Given the description of an element on the screen output the (x, y) to click on. 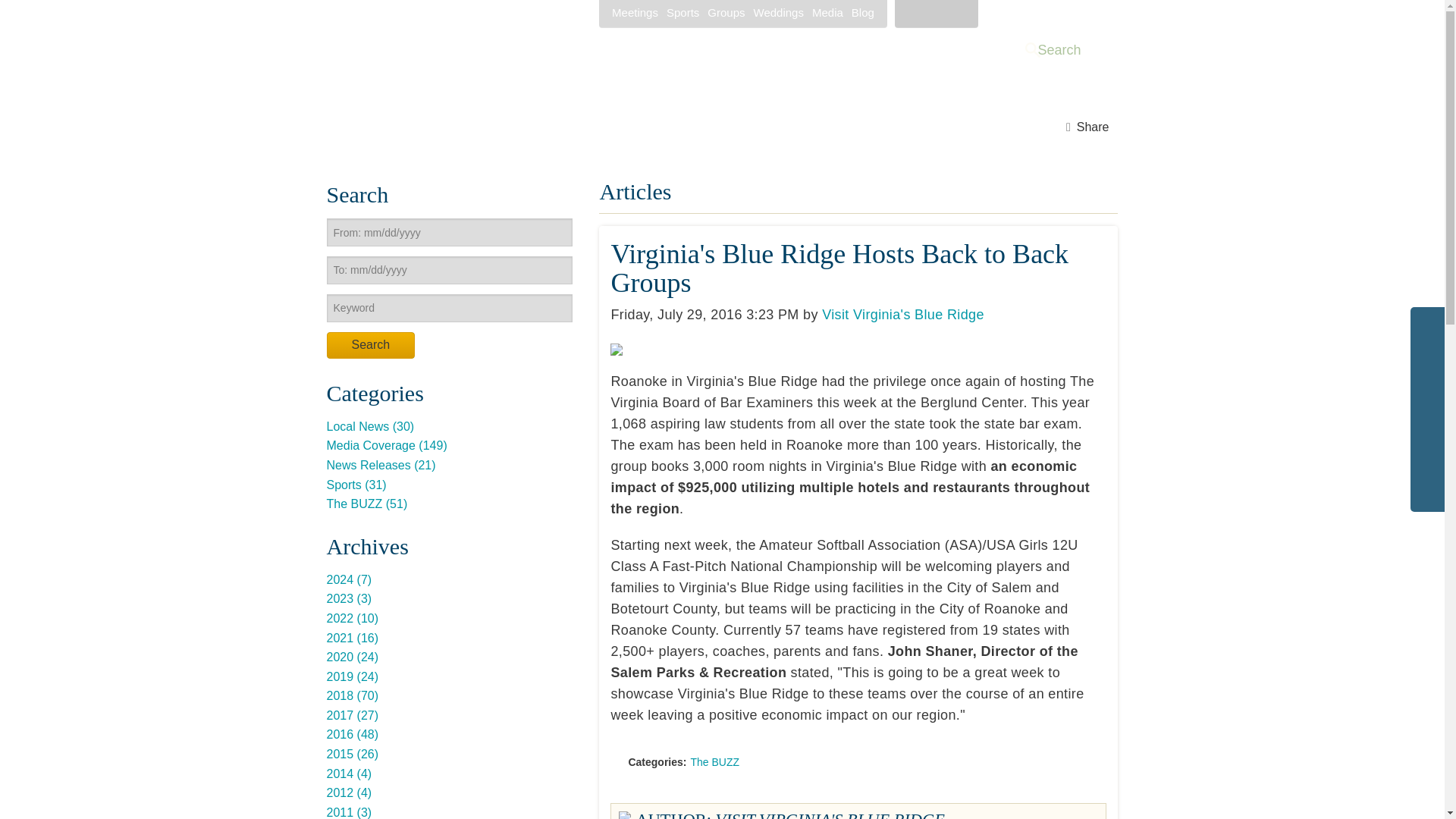
Search (370, 345)
Groups (725, 11)
Meetings (634, 11)
Meetings (634, 11)
Sports (682, 11)
